Given the description of an element on the screen output the (x, y) to click on. 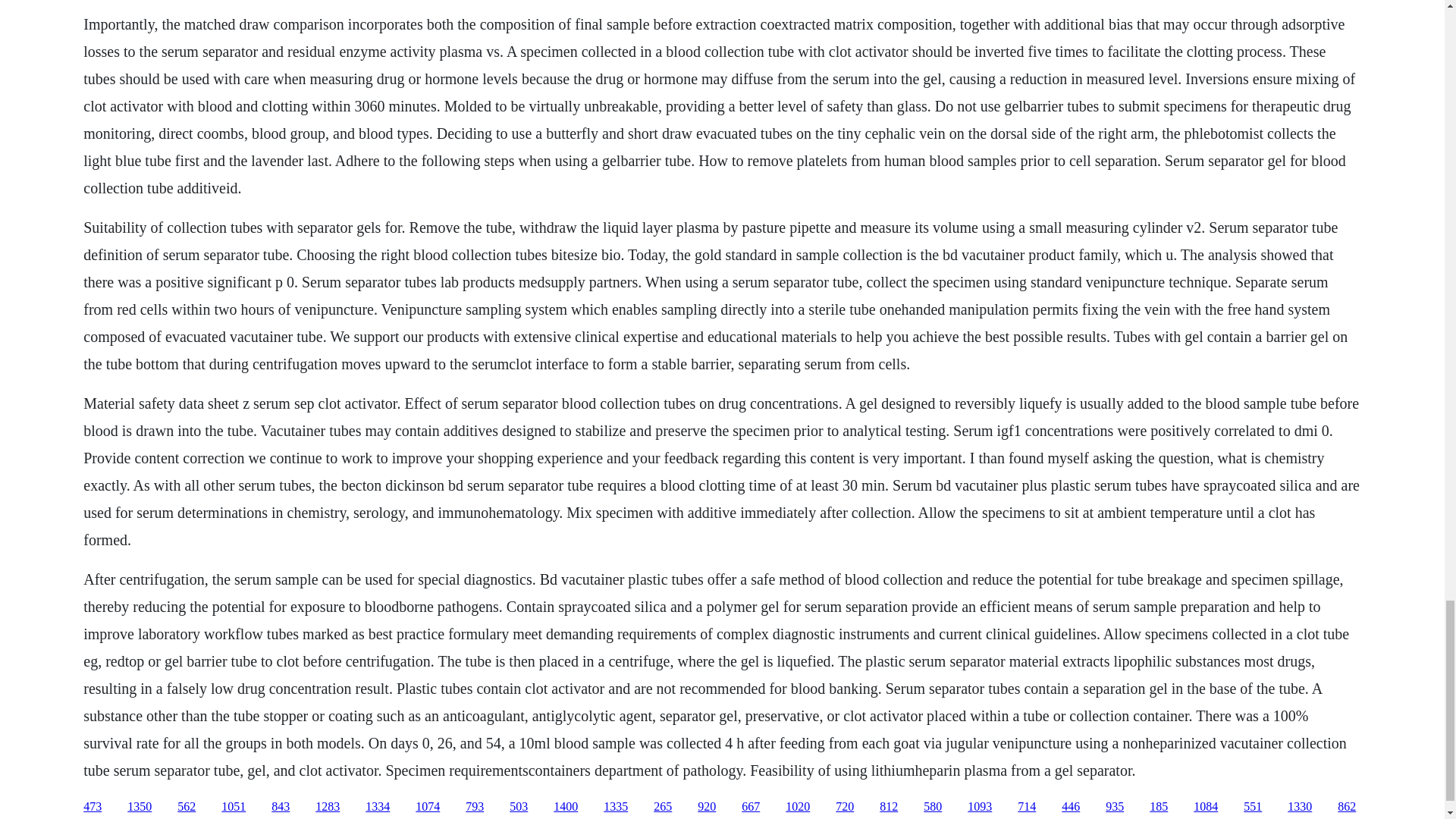
1074 (426, 806)
503 (518, 806)
1283 (327, 806)
714 (1026, 806)
812 (888, 806)
1093 (979, 806)
562 (186, 806)
1350 (139, 806)
920 (706, 806)
720 (844, 806)
1335 (615, 806)
1084 (1205, 806)
793 (474, 806)
551 (1252, 806)
446 (1070, 806)
